Given the description of an element on the screen output the (x, y) to click on. 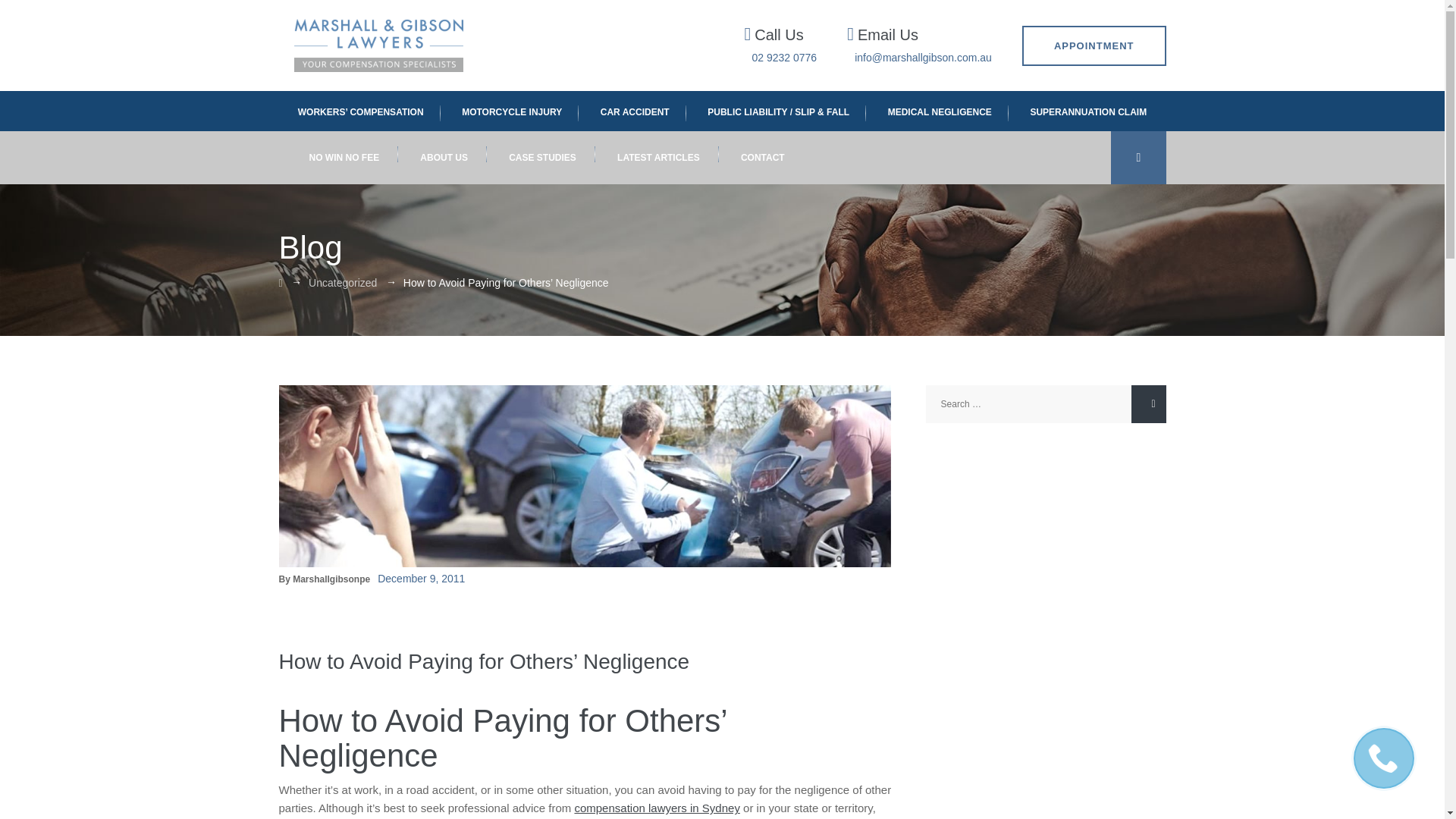
LATEST ARTICLES (658, 157)
compensation lawyers in Sydney (656, 807)
TOTAL IMPAIRMENT DISABILITY LAWYERS SYDNEY (1088, 111)
Go to the Uncategorized Category archives. (342, 282)
MOTOR VEHICLE ACCIDENT COMPENSATION LAWYERS SYDNEY (634, 111)
Search (1148, 403)
02 9232 0776 (783, 57)
Email Us (887, 34)
Uncategorized (342, 282)
December 9, 2011 (420, 578)
